Given the description of an element on the screen output the (x, y) to click on. 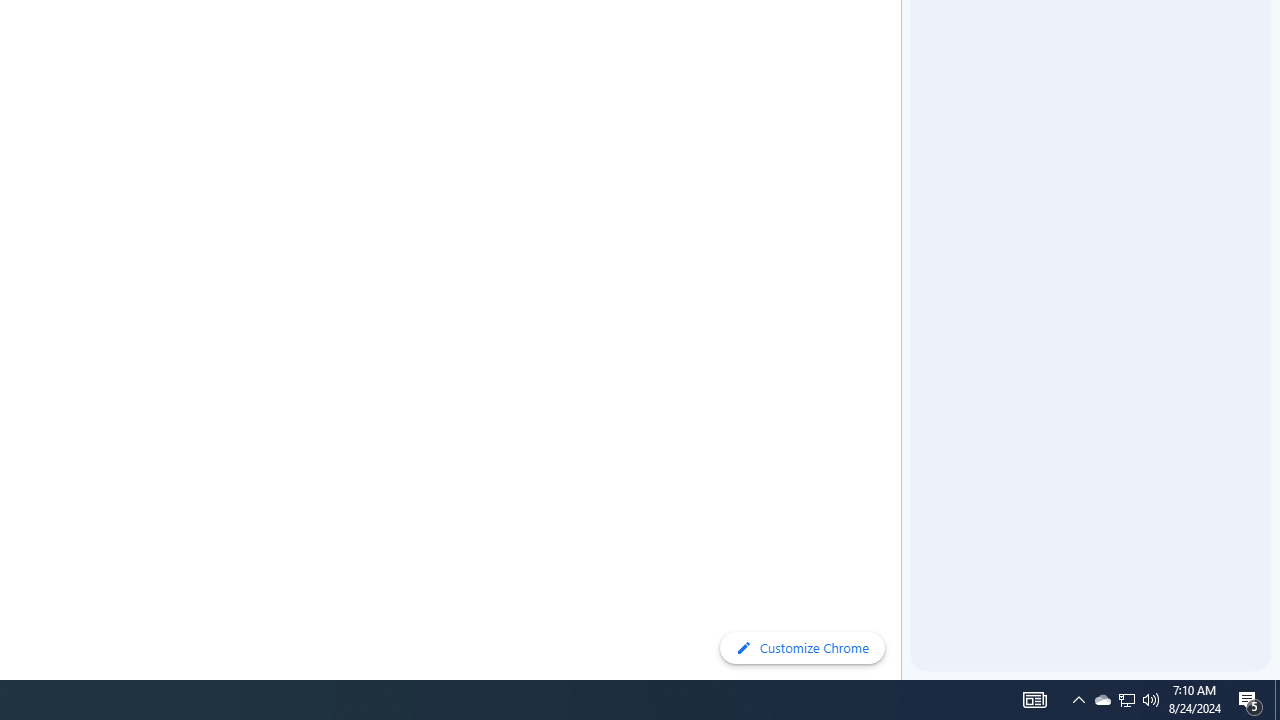
Customize Chrome (801, 647)
Side Panel Resize Handle (905, 39)
